Given the description of an element on the screen output the (x, y) to click on. 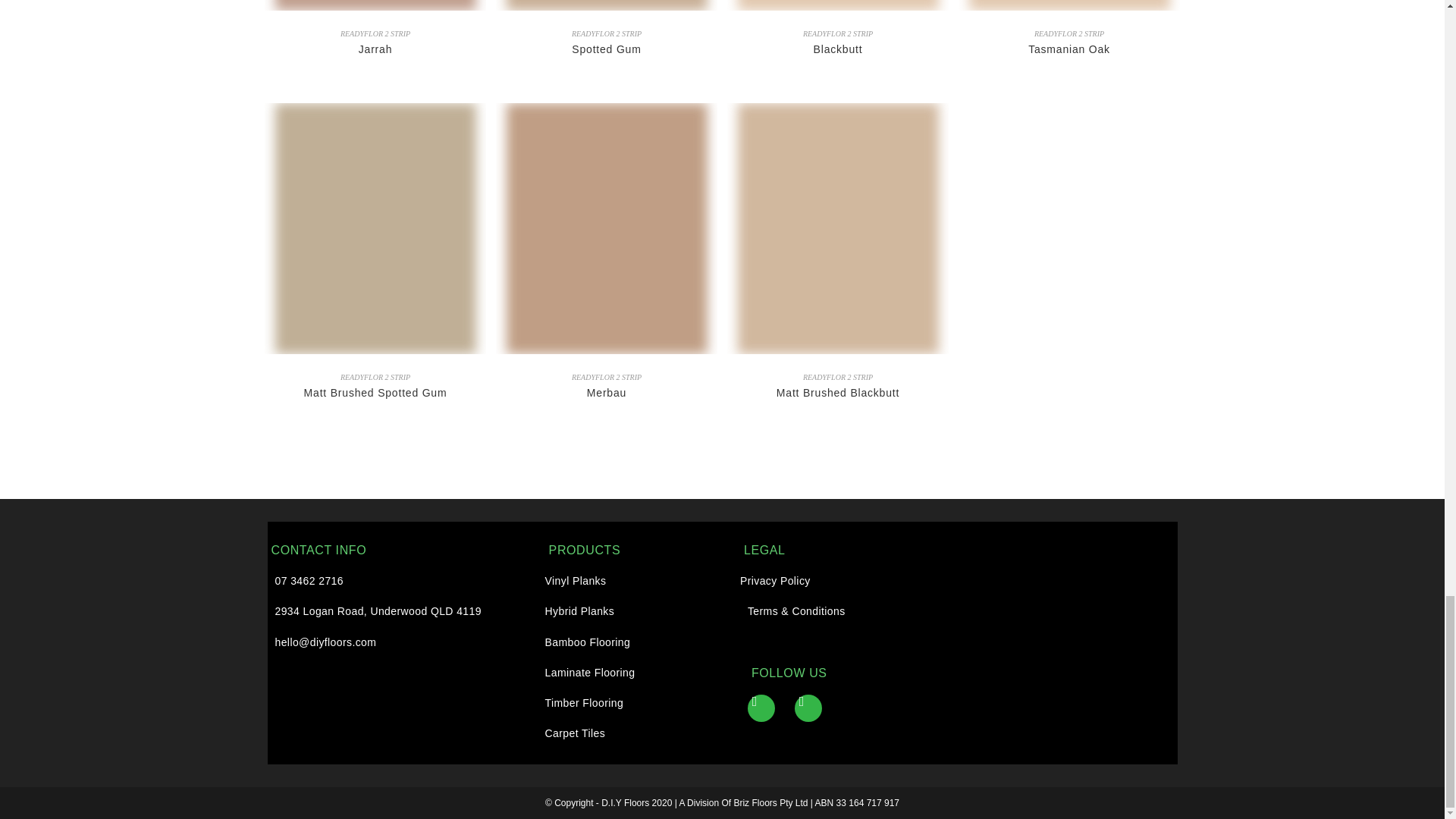
DIY Floors 2934 Logan Road, Underwood, QLD 4129 (1066, 643)
